Given the description of an element on the screen output the (x, y) to click on. 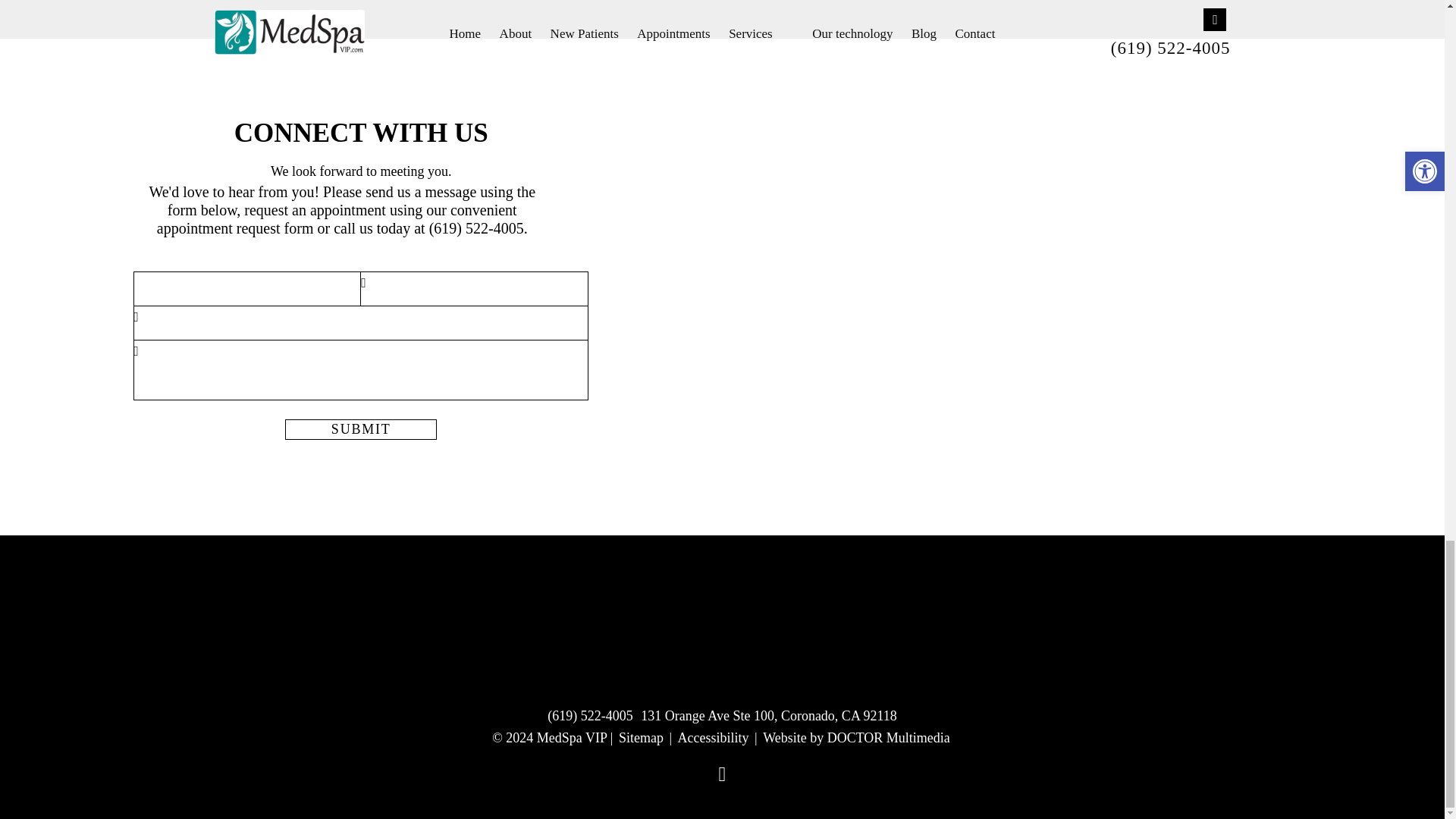
Submit (360, 429)
